Given the description of an element on the screen output the (x, y) to click on. 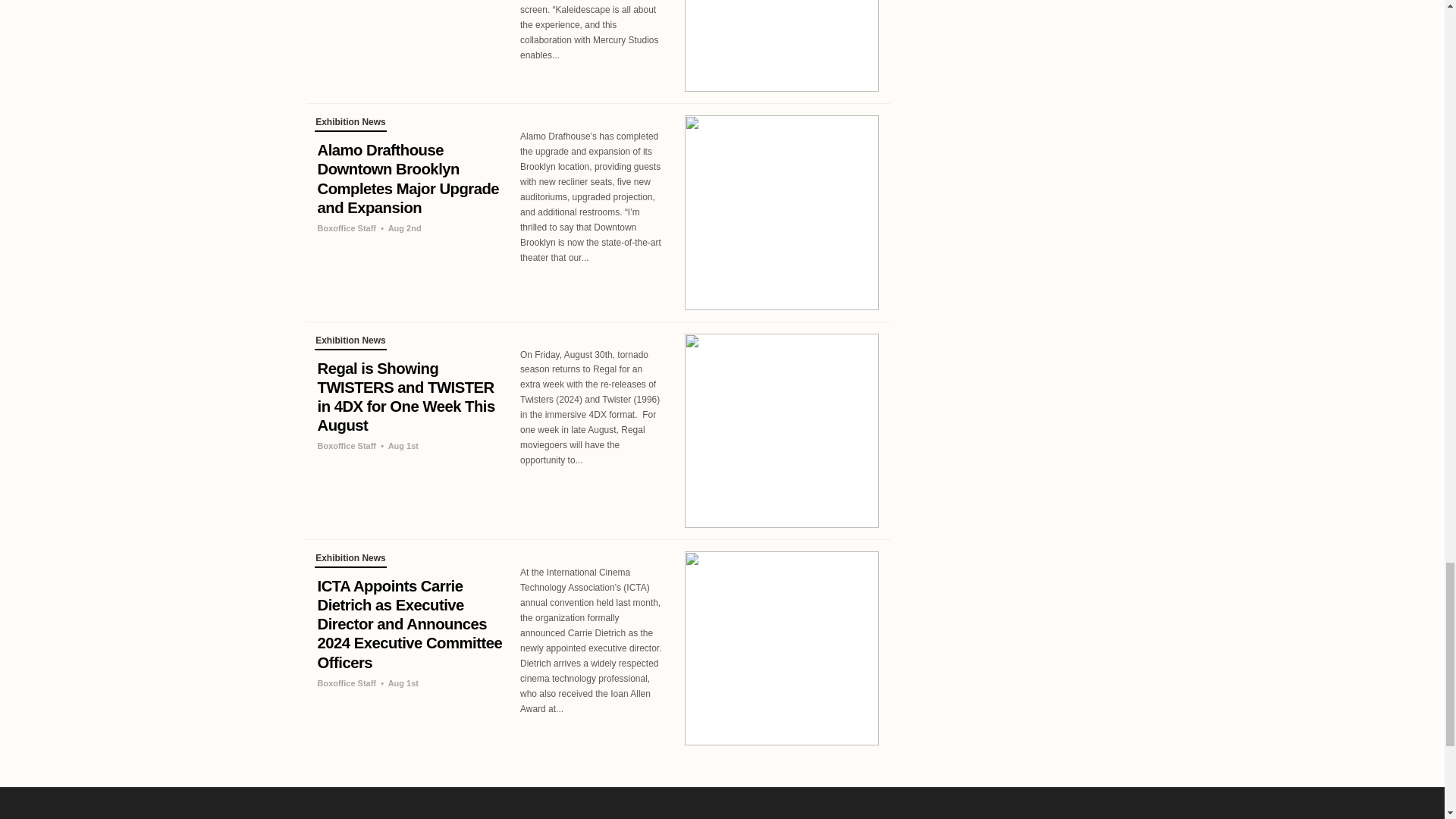
Exhibition News (349, 124)
Exhibition News (349, 342)
Exhibition News (349, 560)
